Given the description of an element on the screen output the (x, y) to click on. 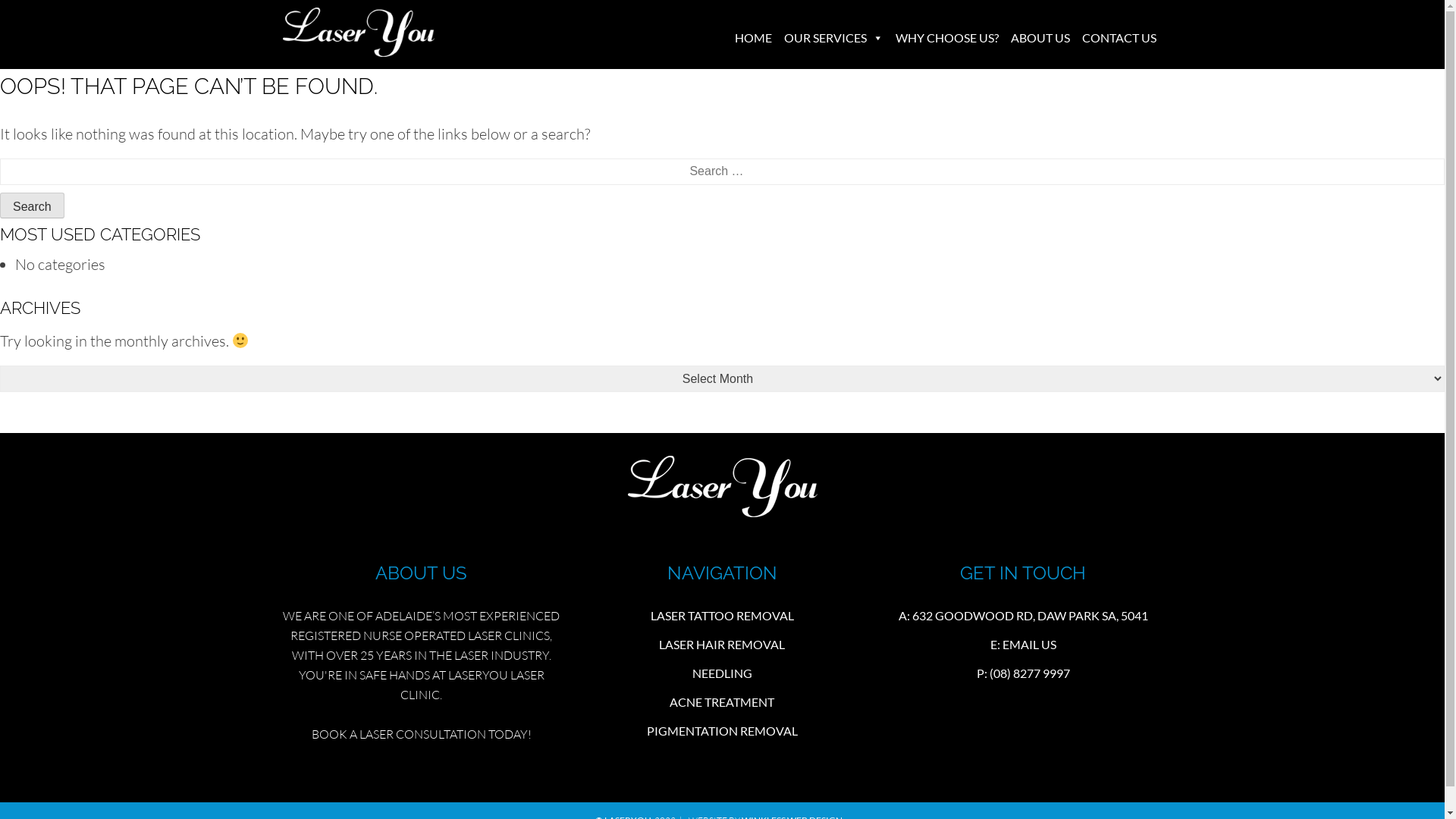
LASER TATTOO REMOVAL Element type: text (721, 615)
ACNE TREATMENT Element type: text (721, 701)
HOME Element type: text (752, 37)
EMAIL US Element type: text (1029, 644)
NEEDLING Element type: text (722, 672)
CONTACT US Element type: text (1118, 37)
PIGMENTATION REMOVAL Element type: text (721, 730)
OUR SERVICES Element type: text (833, 37)
(08) 8277 9997 Element type: text (1029, 672)
ABOUT US Element type: text (1039, 37)
LASER HAIR REMOVAL Element type: text (721, 644)
632 GOODWOOD RD, DAW PARK SA, 5041 Element type: text (1030, 615)
Search Element type: text (32, 205)
WHY CHOOSE US? Element type: text (946, 37)
